Given the description of an element on the screen output the (x, y) to click on. 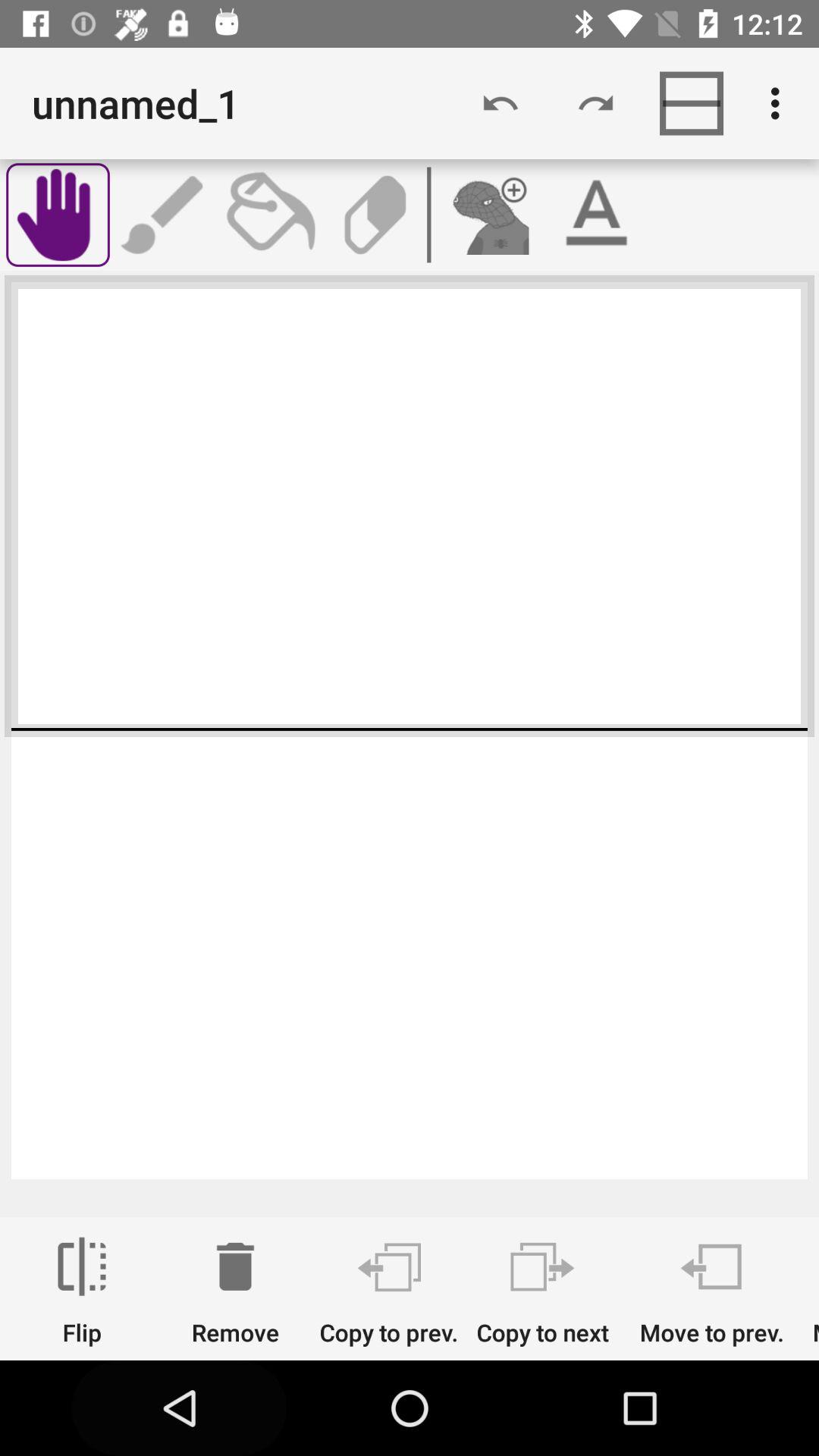
choose flip item (81, 1291)
